Given the description of an element on the screen output the (x, y) to click on. 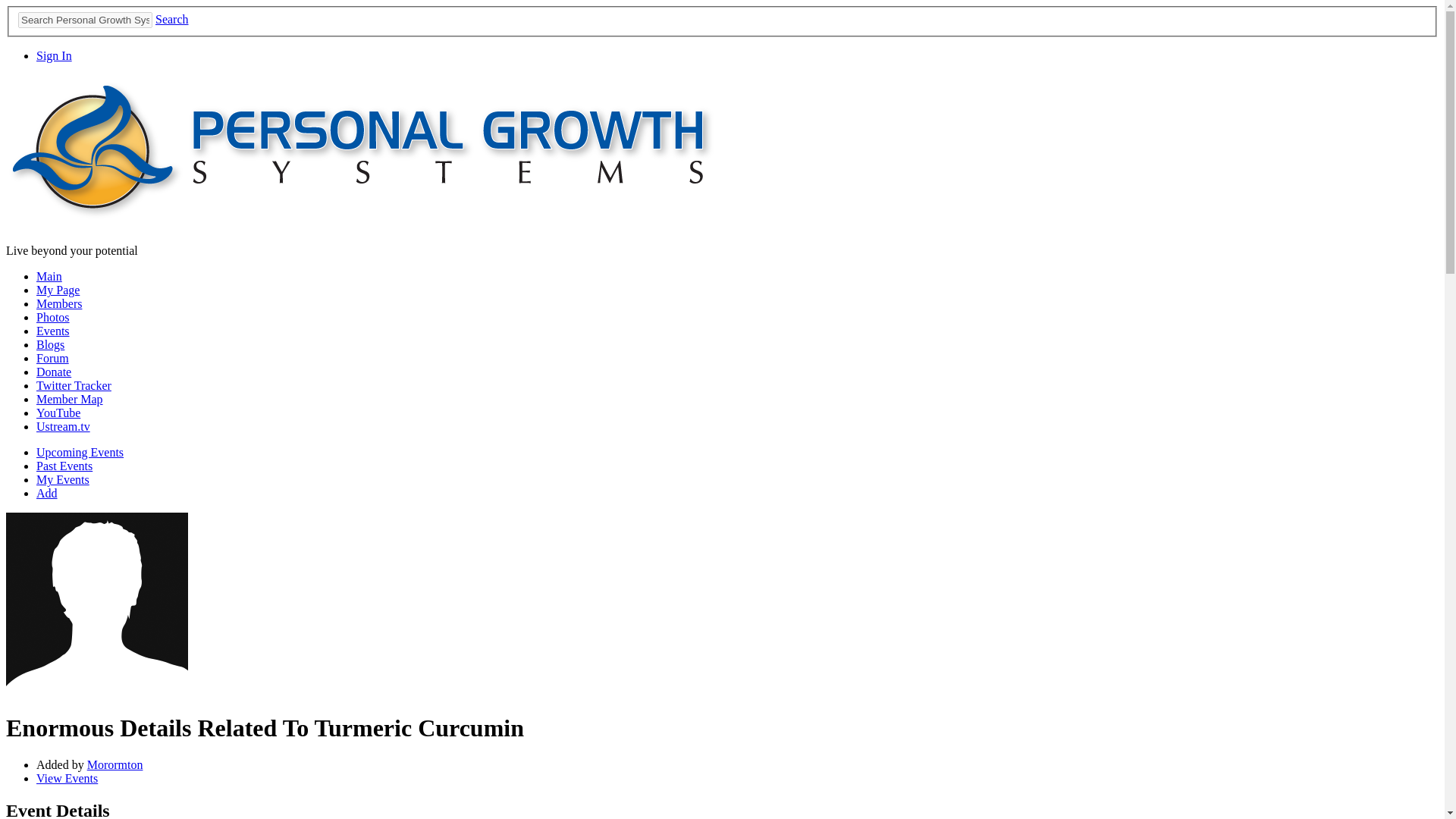
Search Personal Growth Systems (84, 19)
Morormton (96, 689)
Twitter Tracker (74, 385)
Upcoming Events (79, 451)
Added by (61, 764)
Member Map (69, 399)
Search (172, 19)
Past Events (64, 465)
Sign In (53, 55)
Blogs (50, 344)
Main (49, 276)
Donate (53, 371)
Forum (52, 358)
Ustream.tv (63, 426)
Morormton (114, 764)
